Given the description of an element on the screen output the (x, y) to click on. 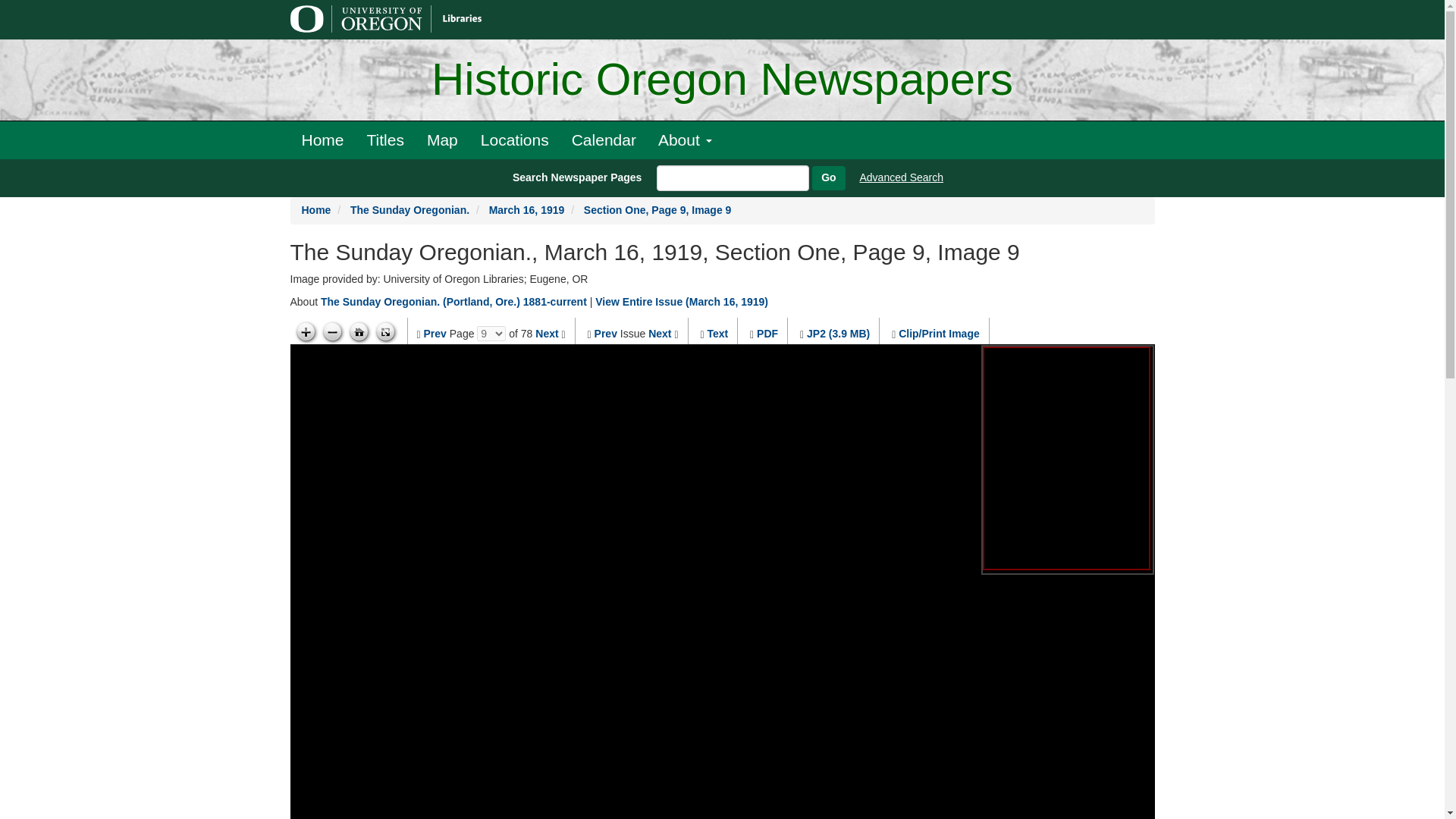
Advanced Search (901, 177)
Prev (434, 333)
Titles (384, 139)
Map (441, 139)
Locations (514, 139)
Prev (605, 333)
The Sunday Oregonian. (409, 209)
Text (717, 333)
Home (322, 139)
About (684, 140)
